Given the description of an element on the screen output the (x, y) to click on. 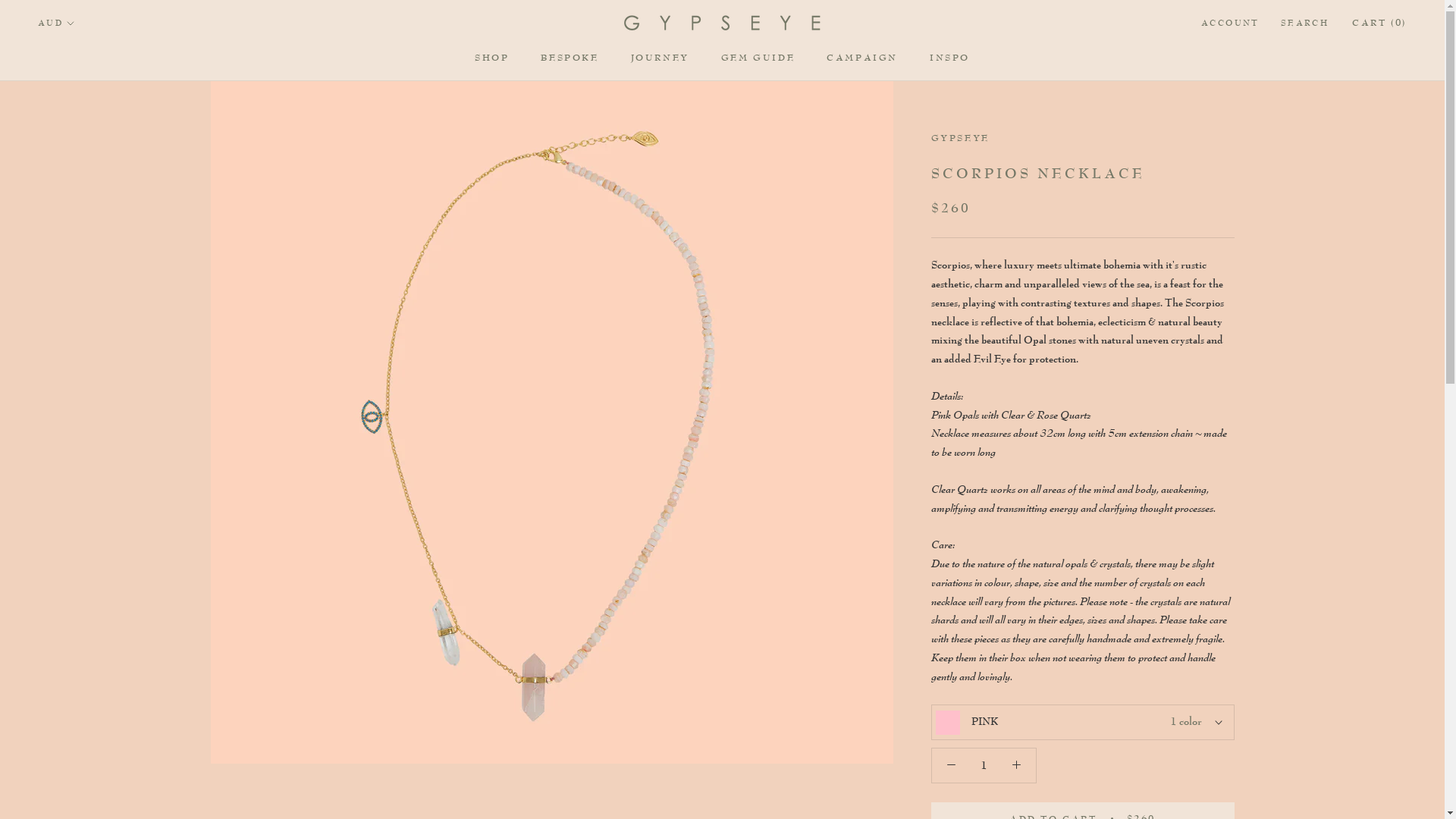
PINK
1 color Element type: text (1082, 722)
JOURNEY
JOURNEY Element type: text (659, 57)
CAMPAIGN
CAMPAIGN Element type: text (861, 57)
INSPO
INSPO Element type: text (949, 57)
GEM GUIDE
GEM GUIDE Element type: text (757, 57)
SEARCH Element type: text (1304, 23)
CART (0) Element type: text (1379, 22)
BESPOKE
BESPOKE Element type: text (569, 57)
ACCOUNT Element type: text (1230, 23)
SHOP Element type: text (491, 57)
